Given the description of an element on the screen output the (x, y) to click on. 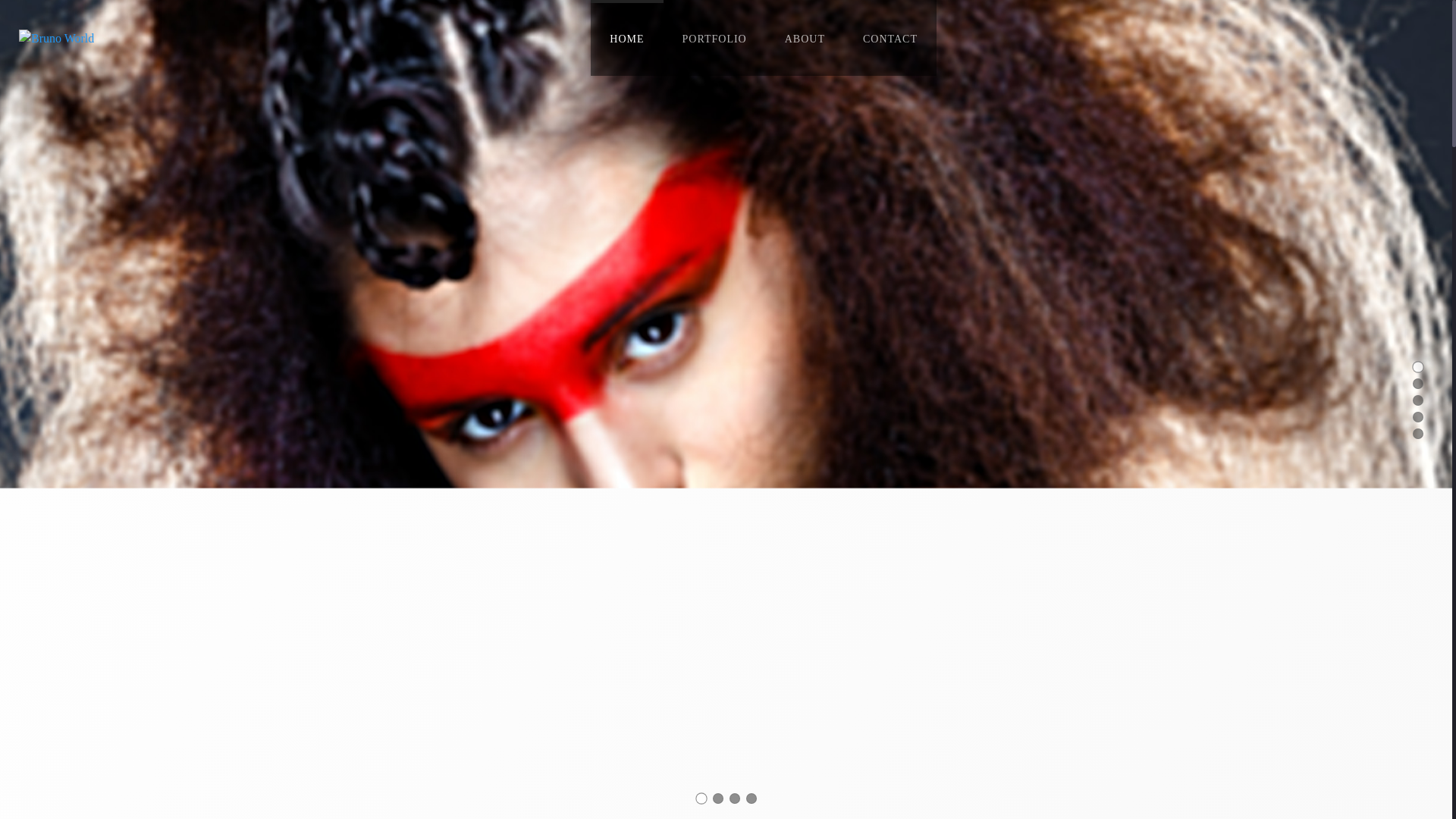
Hero 01 (718, 798)
PORTFOLIO (714, 38)
Hero 04 (734, 798)
HOME (626, 38)
ABOUT (804, 38)
Hero 02 (700, 797)
Hero 03 (751, 798)
CONTACT (890, 38)
